Given the description of an element on the screen output the (x, y) to click on. 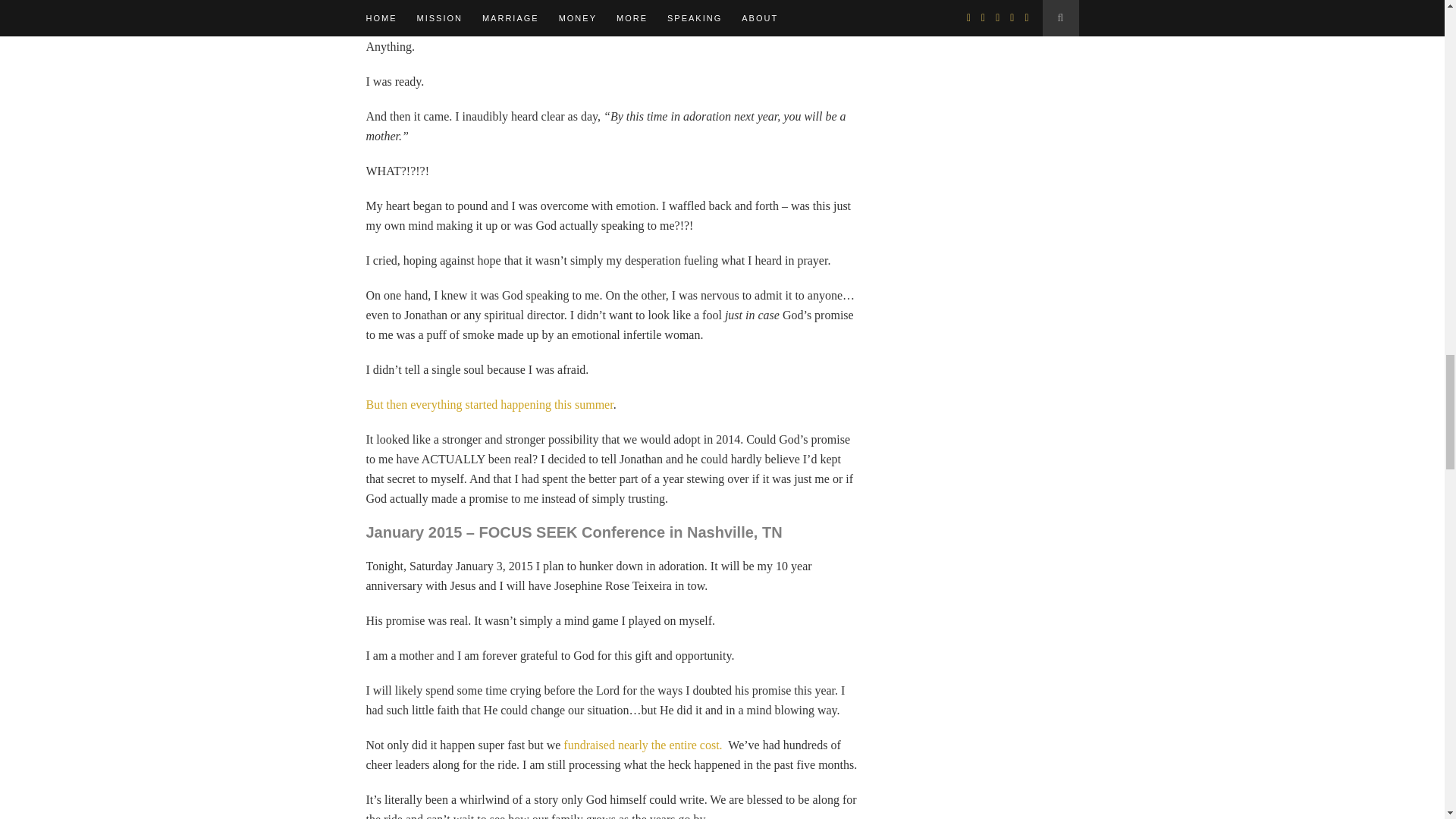
fundraised nearly the entire cost. (642, 744)
SEEK (555, 532)
But then everything started happening this summer (488, 404)
